Given the description of an element on the screen output the (x, y) to click on. 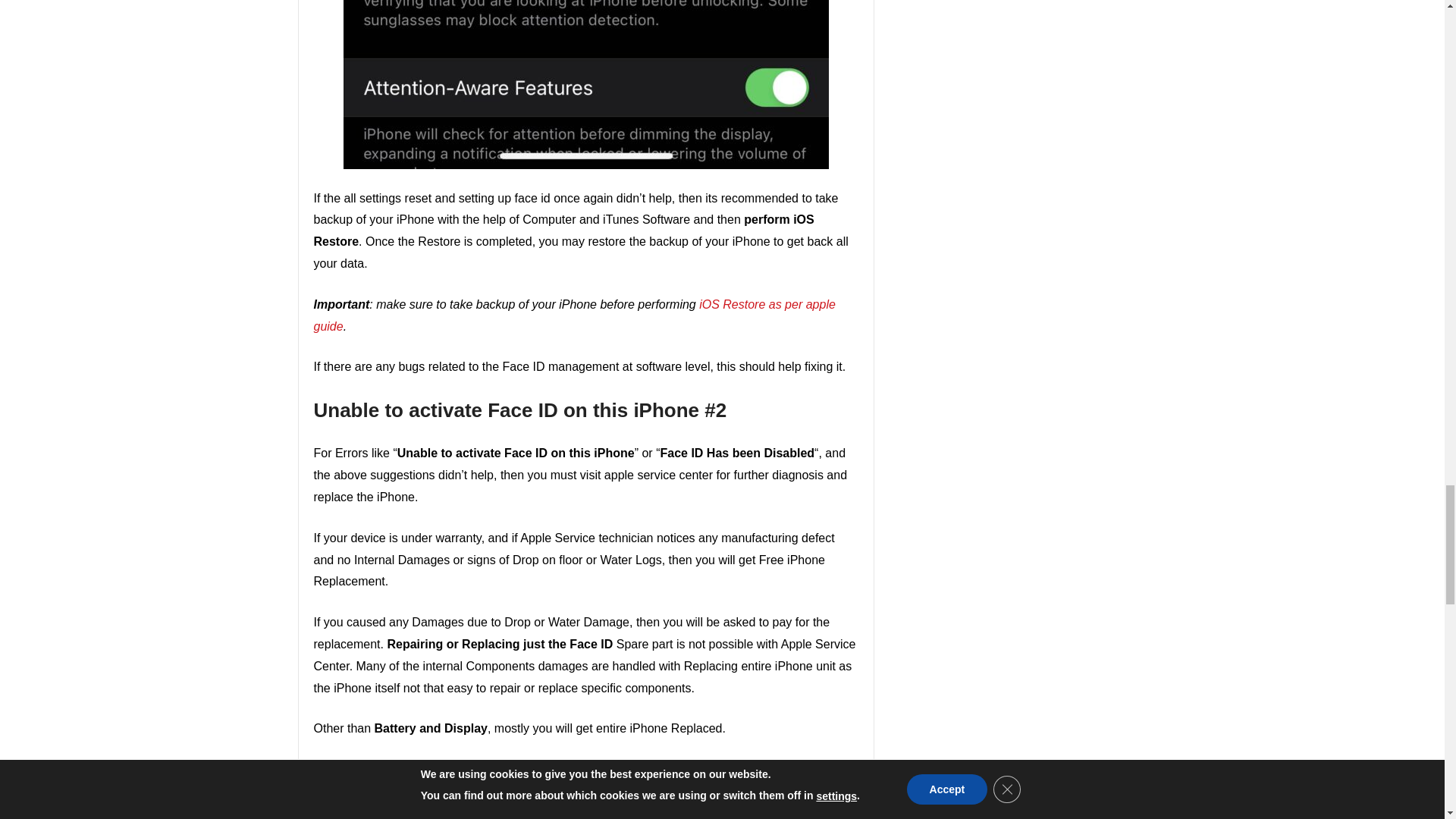
iOS Restore as per apple guide (574, 315)
Instagram Black Screen Error on iPhone, How to Fix? (471, 809)
